Given the description of an element on the screen output the (x, y) to click on. 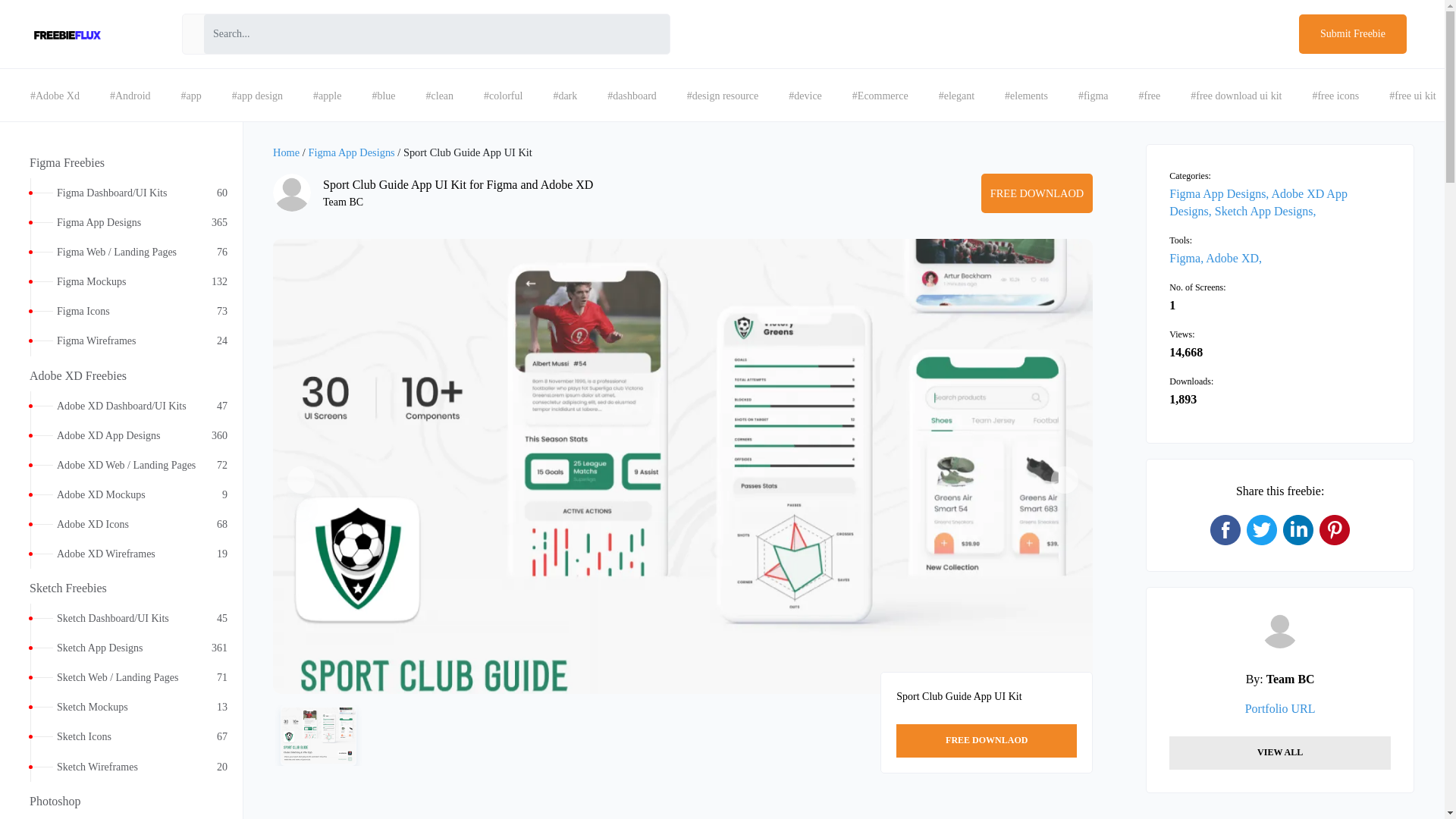
Download freebies from Android tag (129, 95)
Download freebies from free tag (1150, 95)
Download freebies from Ecommerce tag (880, 95)
Download freebies from free download ui kit tag (1235, 95)
Download freebies from elements tag (1026, 95)
Download freebies from dashboard tag (631, 95)
Download freebies from clean tag (439, 95)
Download freebies from device tag (805, 95)
Figma Freebies (121, 160)
FreebiesFlux (66, 35)
Download freebies from dark tag (564, 95)
Download freebies from free icons tag (1335, 95)
Download freebies from design resource tag (722, 95)
Download freebies from figma tag (121, 222)
